Given the description of an element on the screen output the (x, y) to click on. 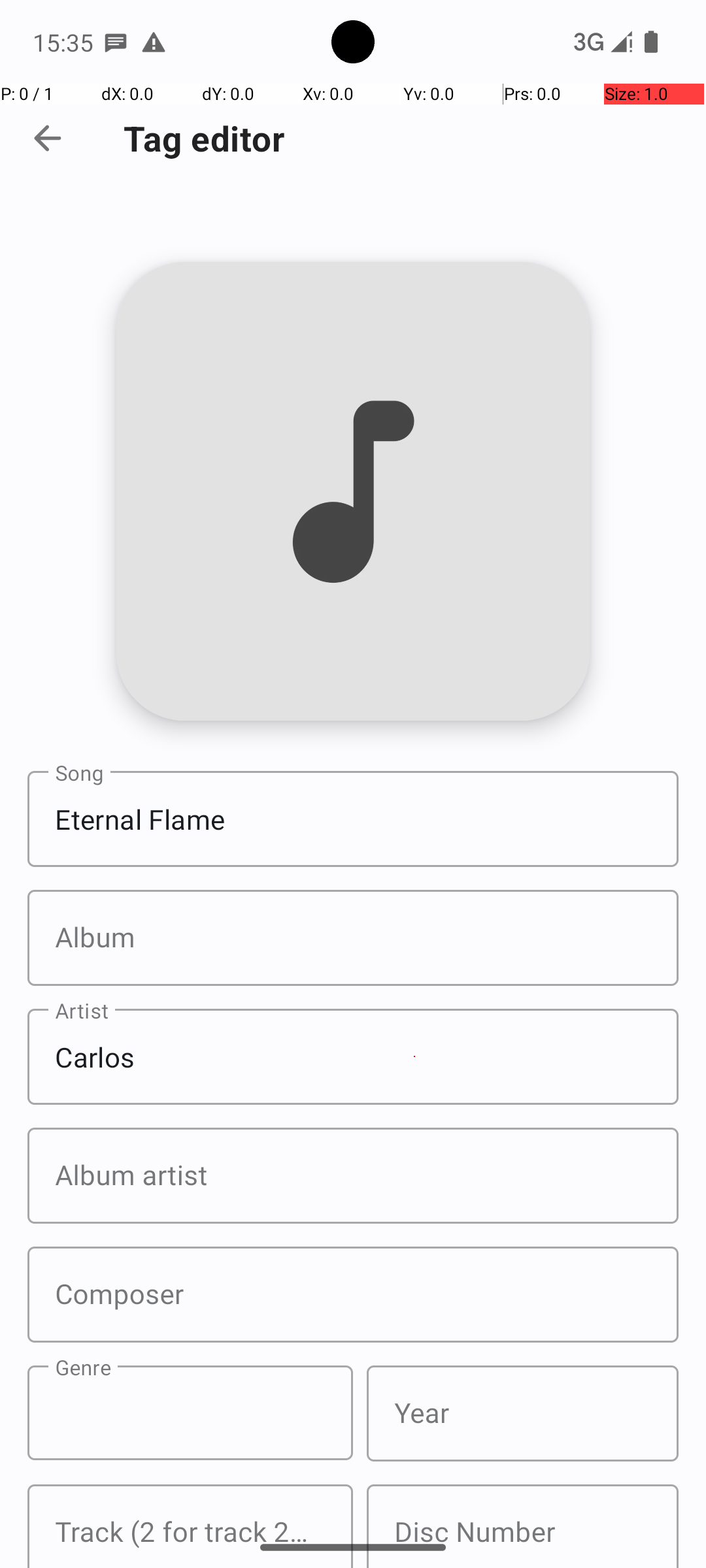
Tag editor Element type: android.widget.TextView (204, 137)
Eternal Flame Element type: android.widget.EditText (352, 818)
Album Element type: android.widget.EditText (352, 937)
Carlos Element type: android.widget.EditText (352, 1056)
Album artist Element type: android.widget.EditText (352, 1175)
Composer Element type: android.widget.EditText (352, 1294)
Rock
 Element type: android.widget.EditText (190, 1412)
Year Element type: android.widget.EditText (522, 1413)
Track (2 for track 2 or 3004 for CD3 track 4) Element type: android.widget.EditText (190, 1526)
Disc Number Element type: android.widget.EditText (522, 1526)
